Given the description of an element on the screen output the (x, y) to click on. 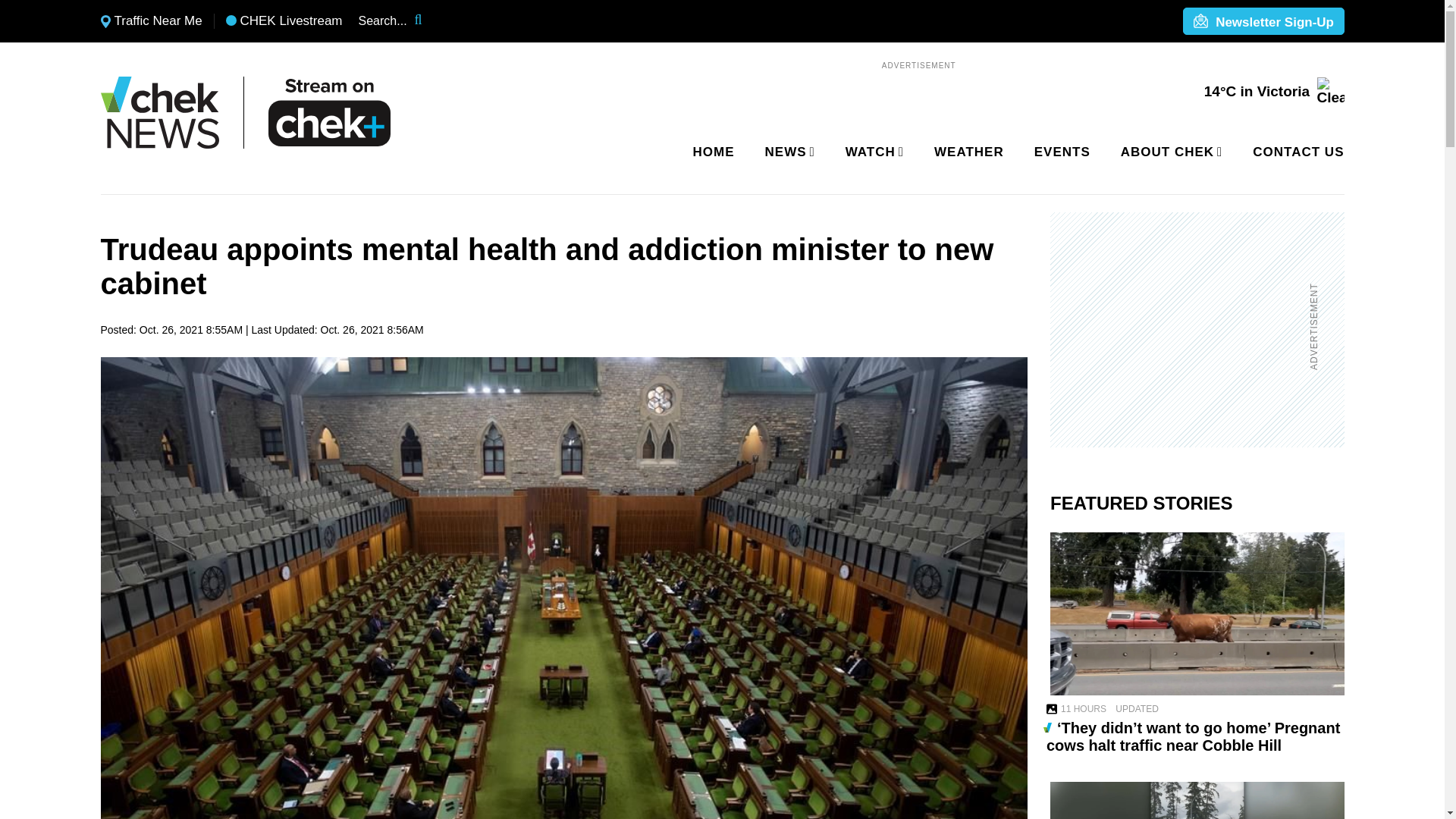
HOME (714, 152)
Traffic Near Me (151, 20)
CHEK Livestream (283, 20)
Search (428, 21)
Newsletter Sign-Up (1262, 22)
NEWS (787, 152)
3rd party ad content (1187, 330)
